Given the description of an element on the screen output the (x, y) to click on. 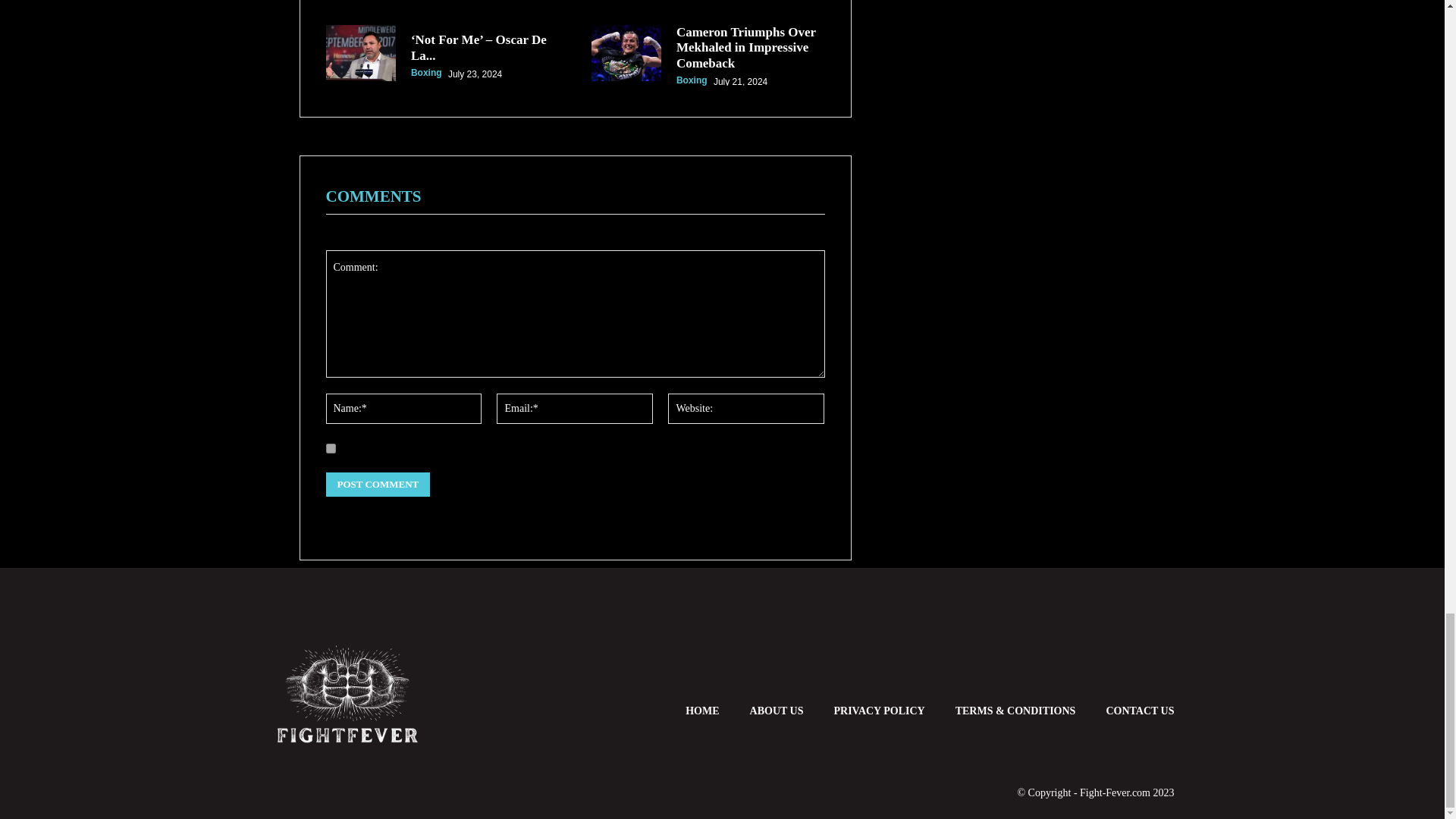
Boxing (692, 80)
Boxing (426, 71)
yes (331, 448)
Post Comment (378, 484)
Cameron Triumphs Over Mekhaled in Impressive Comeback (746, 47)
